Given the description of an element on the screen output the (x, y) to click on. 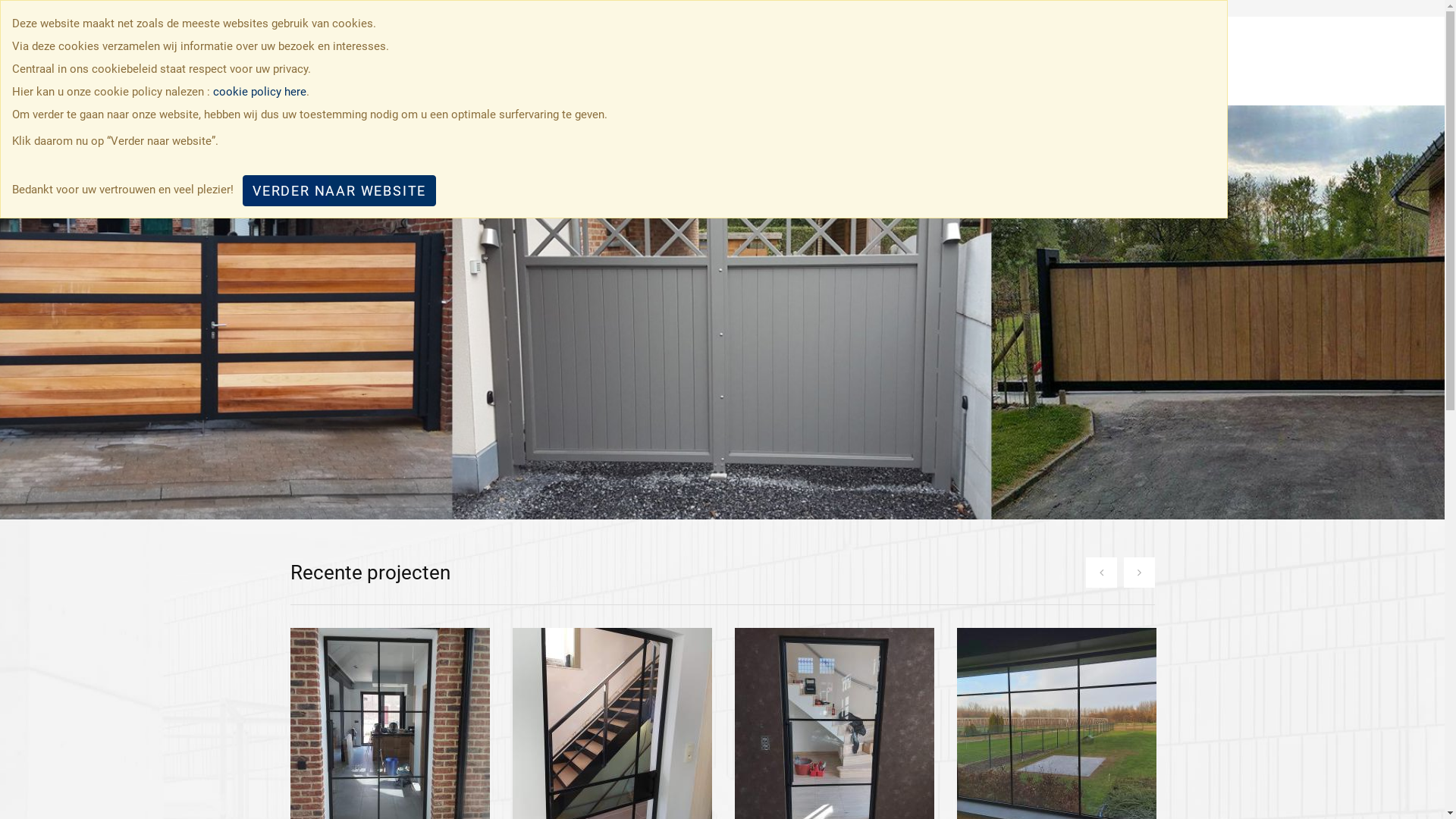
VERDER NAAR WEBSITE Element type: text (339, 190)
REALISATIES Element type: text (1027, 61)
cookie policy here Element type: text (259, 91)
CONTACT Element type: text (1115, 61)
HOME Element type: text (866, 61)
OVER ONS Element type: text (937, 61)
